Given the description of an element on the screen output the (x, y) to click on. 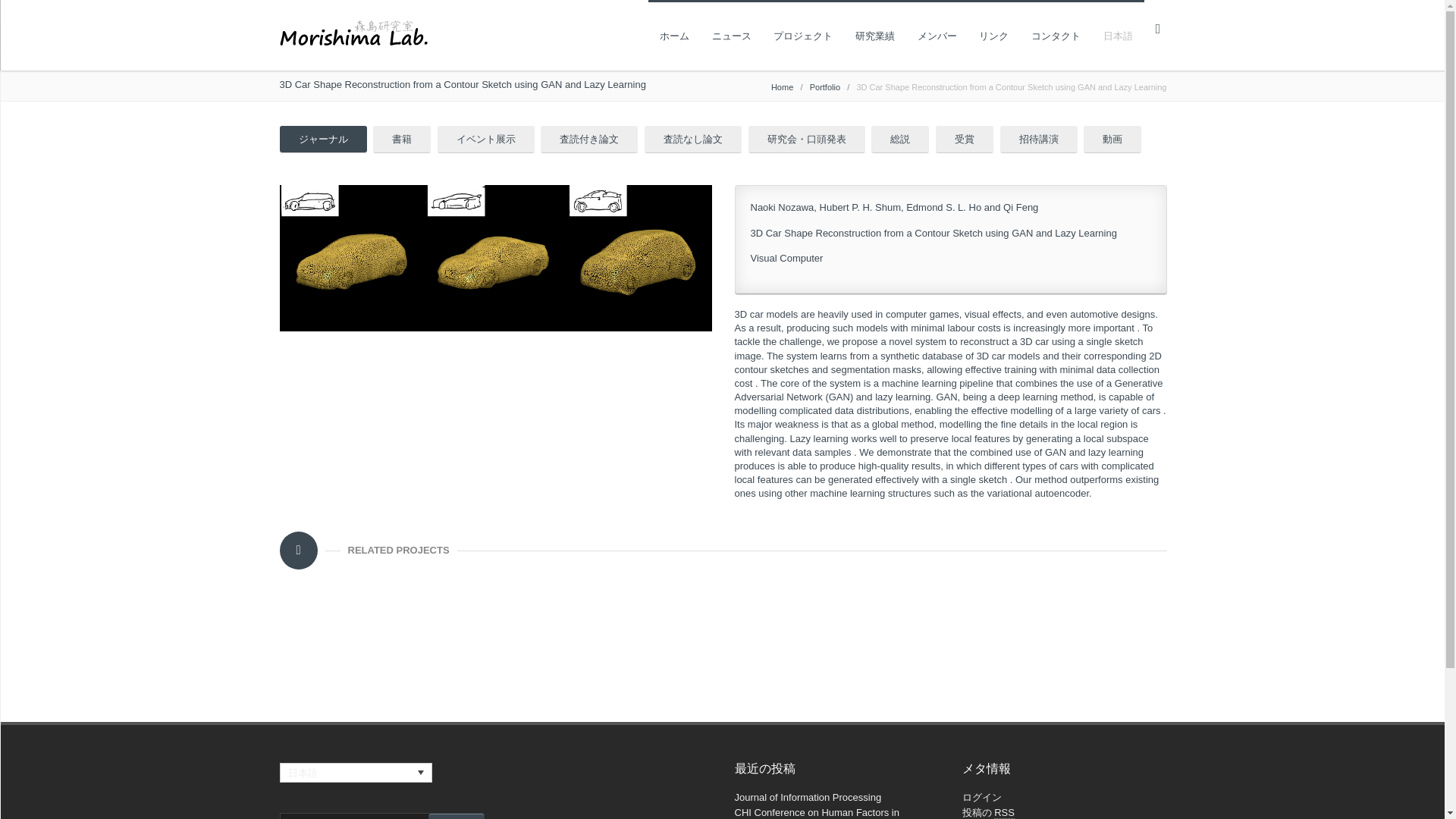
Really Simple Syndication (1004, 812)
Portfolio (824, 86)
Home (782, 86)
Search (455, 816)
Search... (381, 816)
